Given the description of an element on the screen output the (x, y) to click on. 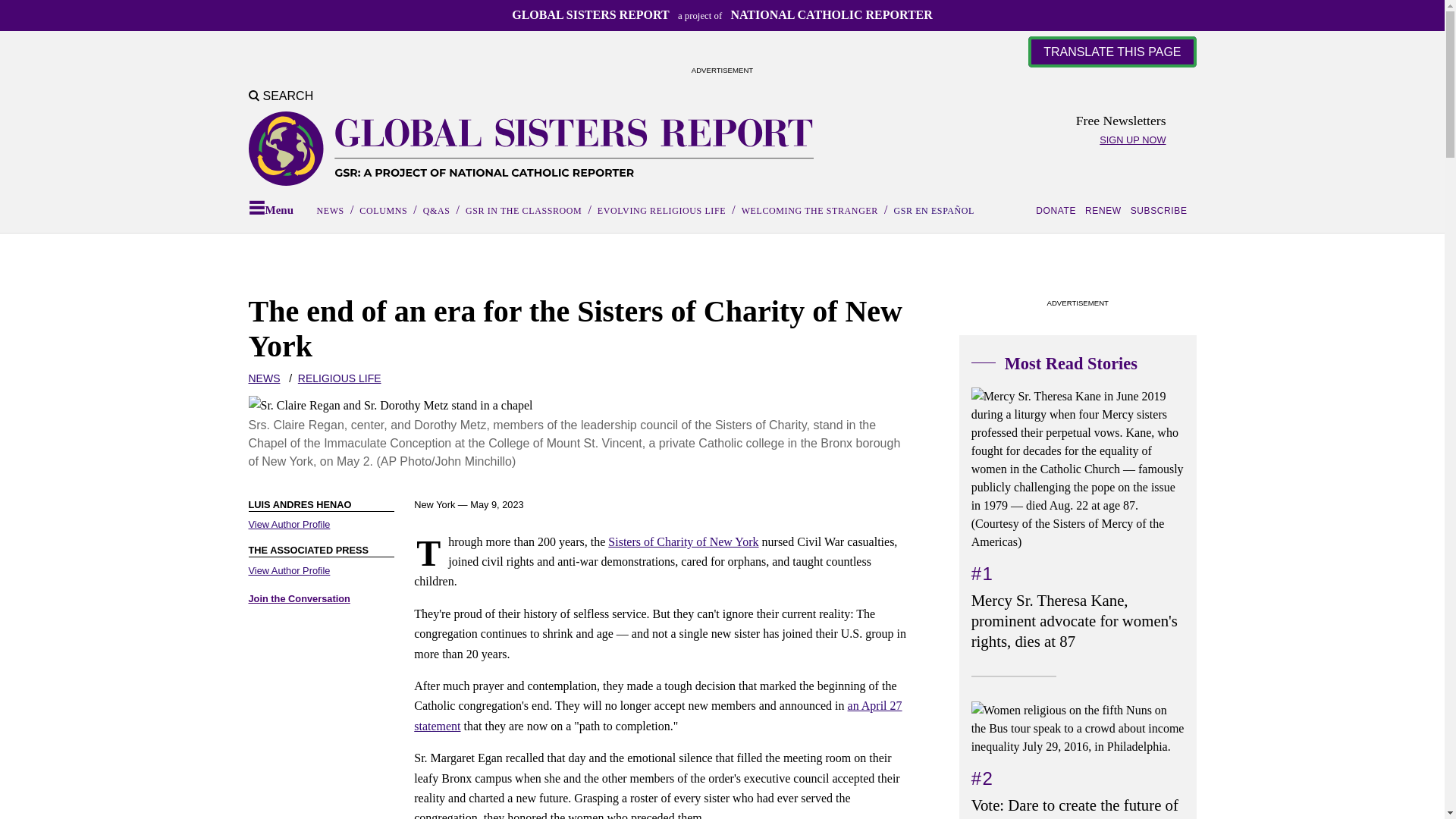
WELCOMING THE STRANGER (809, 210)
COLUMNS (383, 210)
Contact us (299, 598)
EVOLVING RELIGIOUS LIFE (660, 210)
SIGN UP NOW (1132, 139)
DONATE (1058, 210)
Back to Global Sisters Report homepage (530, 148)
GSR in the Classroom (522, 210)
TRANSLATE THIS PAGE (1111, 51)
